Given the description of an element on the screen output the (x, y) to click on. 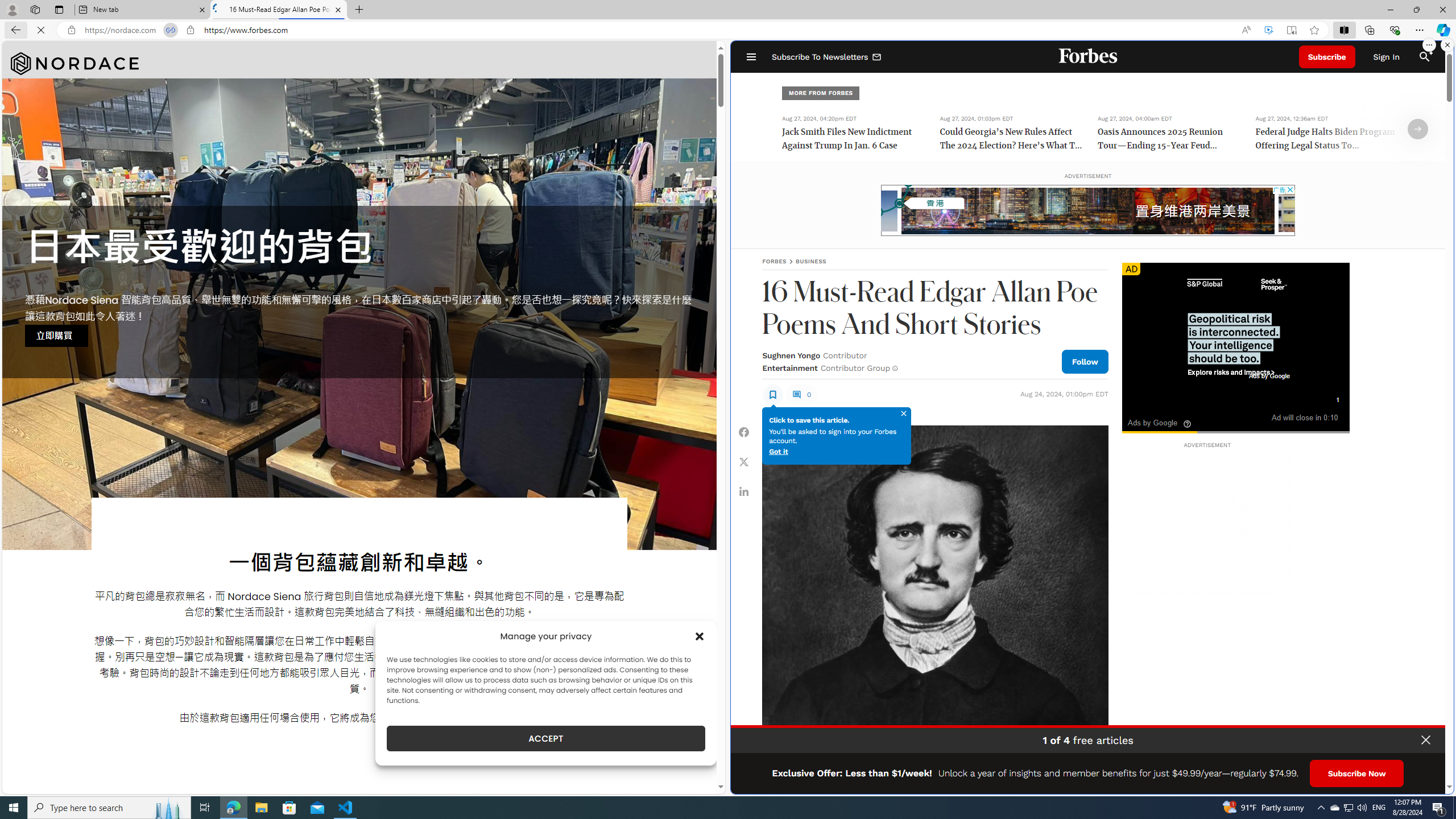
Class: fs-icon fs-icon--linkedin (743, 490)
Class: fs-icon fs-icon--comment (796, 394)
Class: close_svg__fs-icon close_svg__fs-icon--close (903, 412)
Seek (1235, 431)
Class: fs-icon fs-icon--xCorp (743, 461)
Subscribe To Newsletters (826, 56)
Subscribe (1326, 56)
Class: article-sharing__item (743, 490)
